Given the description of an element on the screen output the (x, y) to click on. 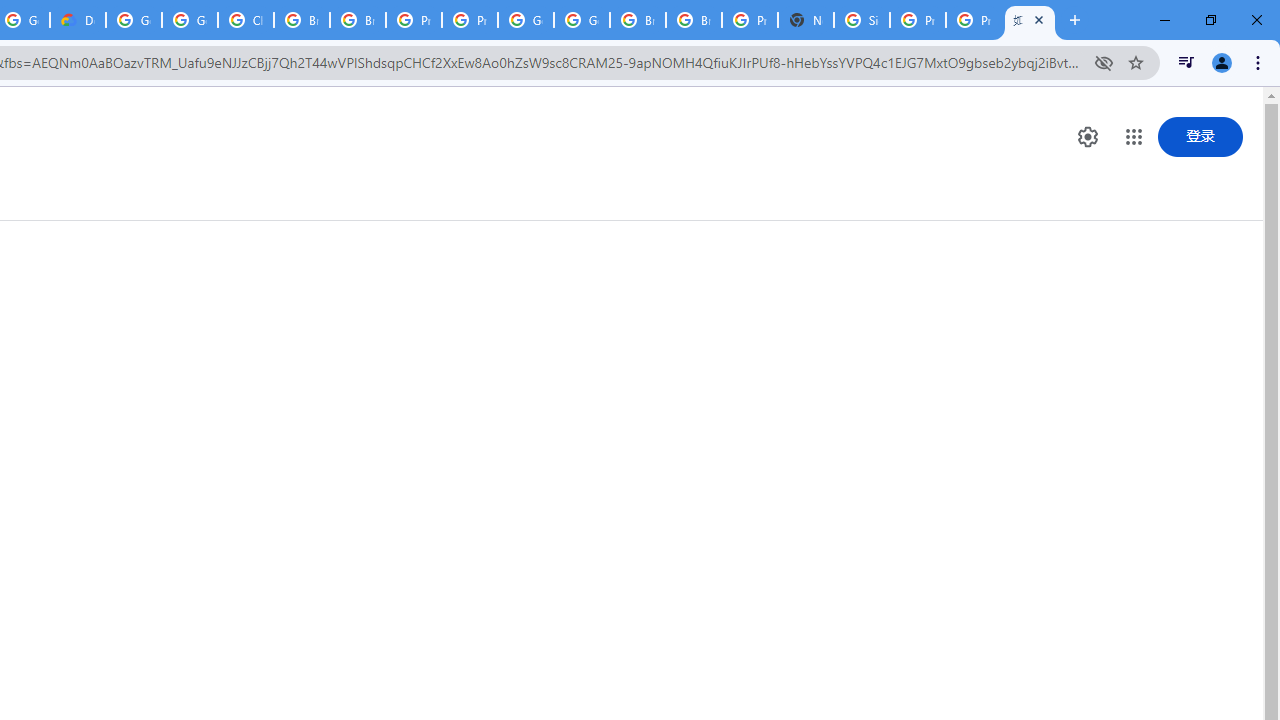
New Tab (806, 20)
